Given the description of an element on the screen output the (x, y) to click on. 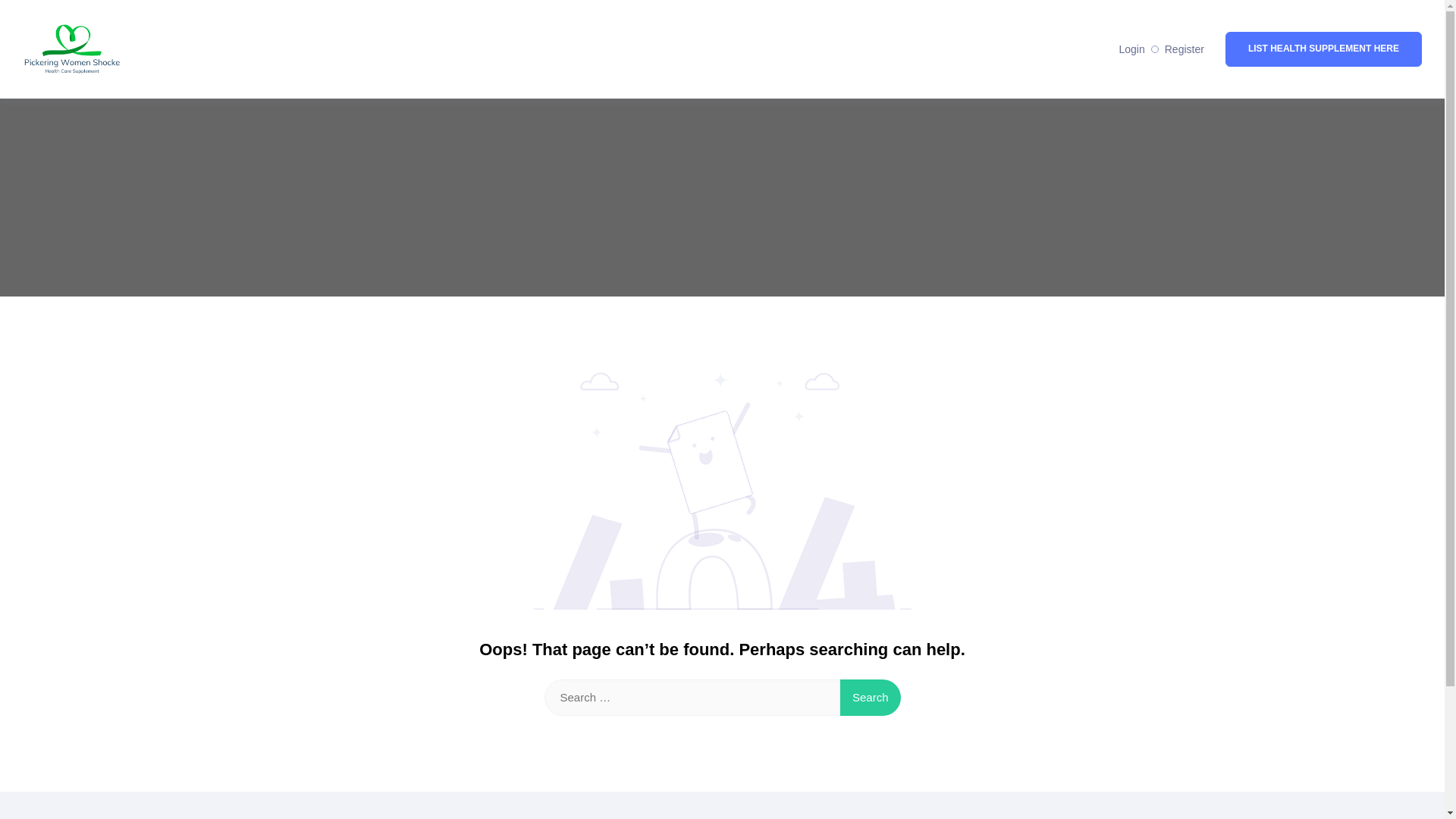
Search (870, 697)
LIST HEALTH SUPPLEMENT HERE (1323, 48)
Search (870, 697)
Search (870, 697)
Login (1131, 49)
Register (1184, 49)
